Given the description of an element on the screen output the (x, y) to click on. 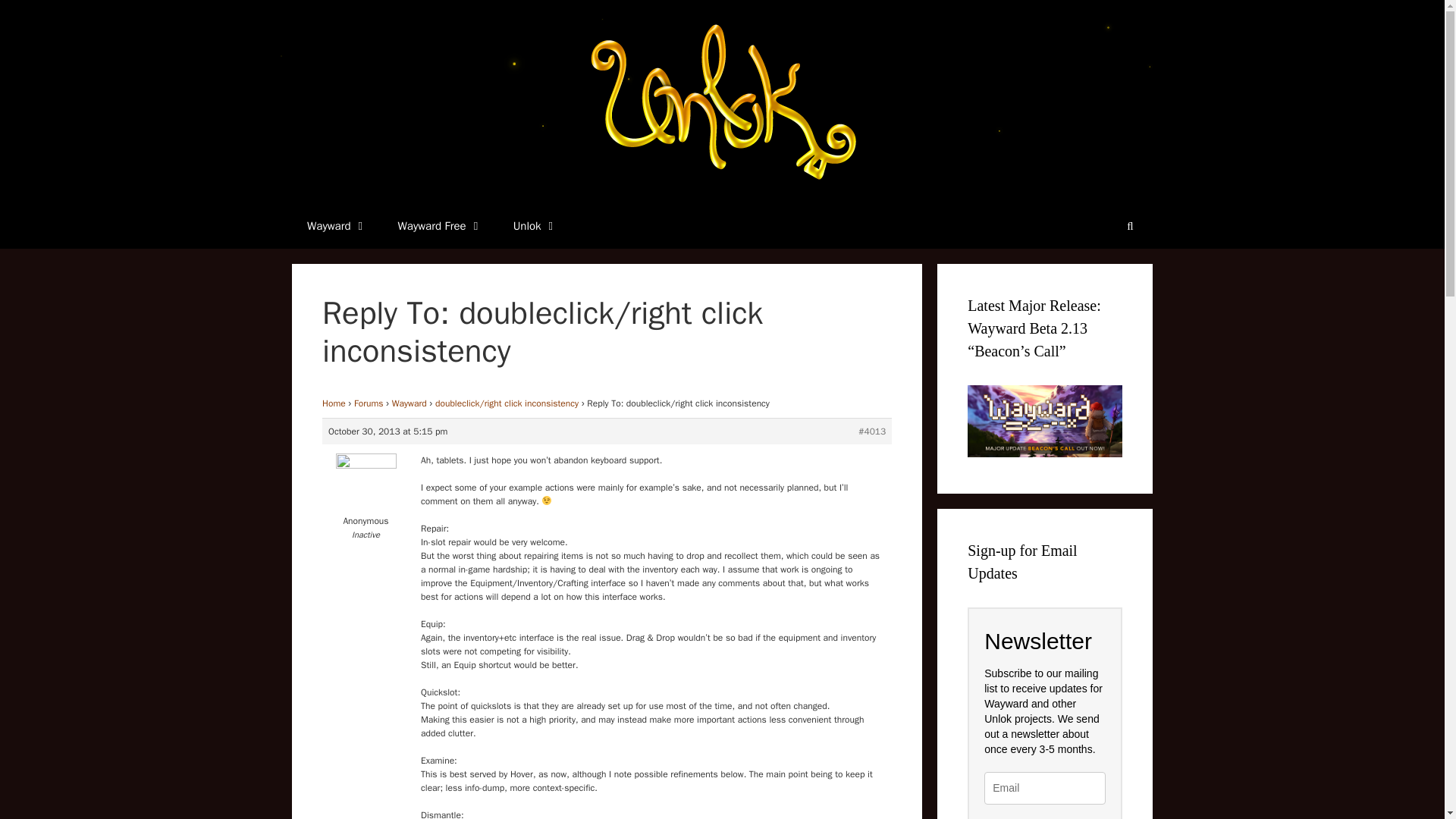
Wayward (337, 225)
